Given the description of an element on the screen output the (x, y) to click on. 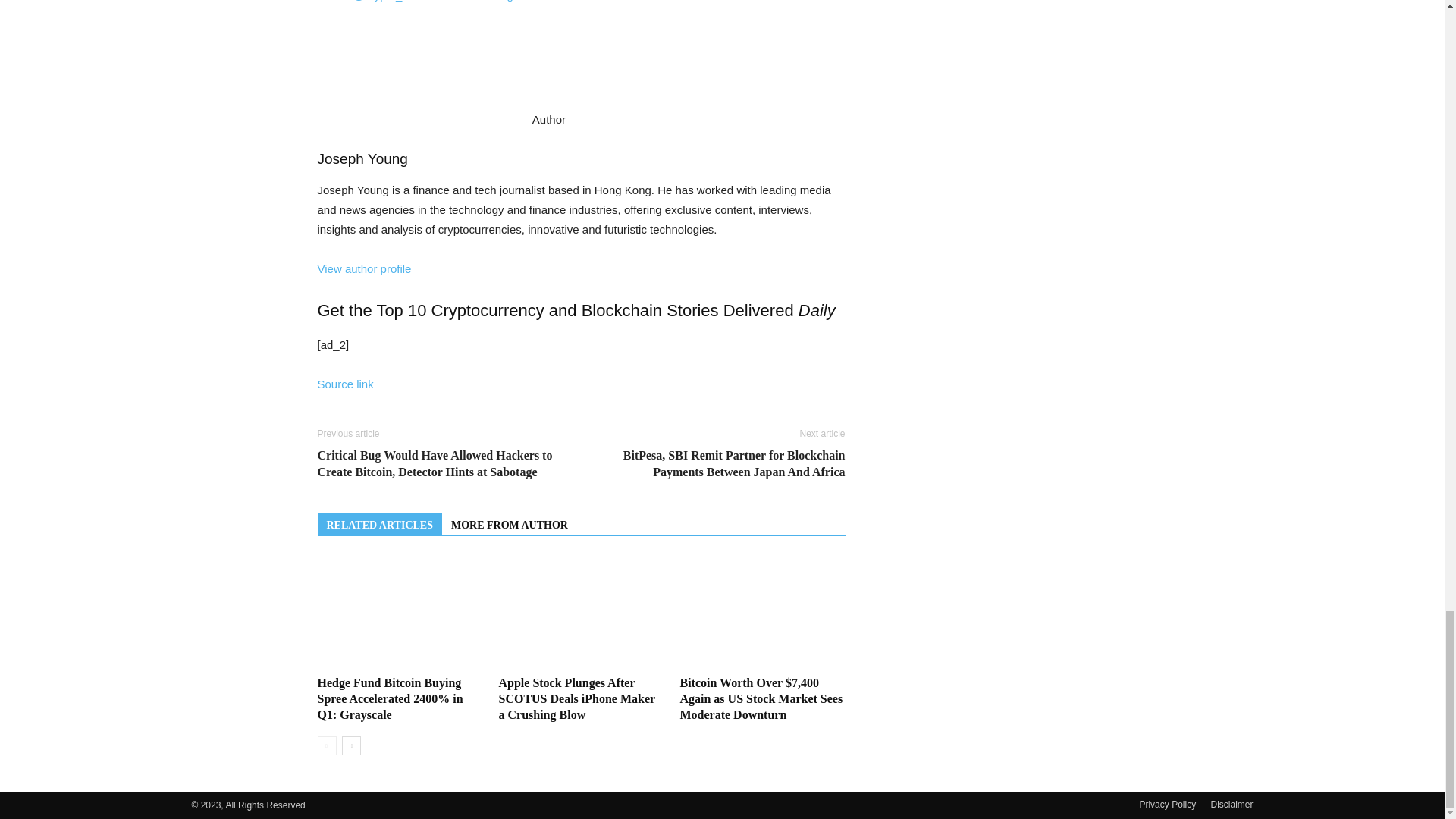
CryptoSlate News on Telegram (480, 0)
